Given the description of an element on the screen output the (x, y) to click on. 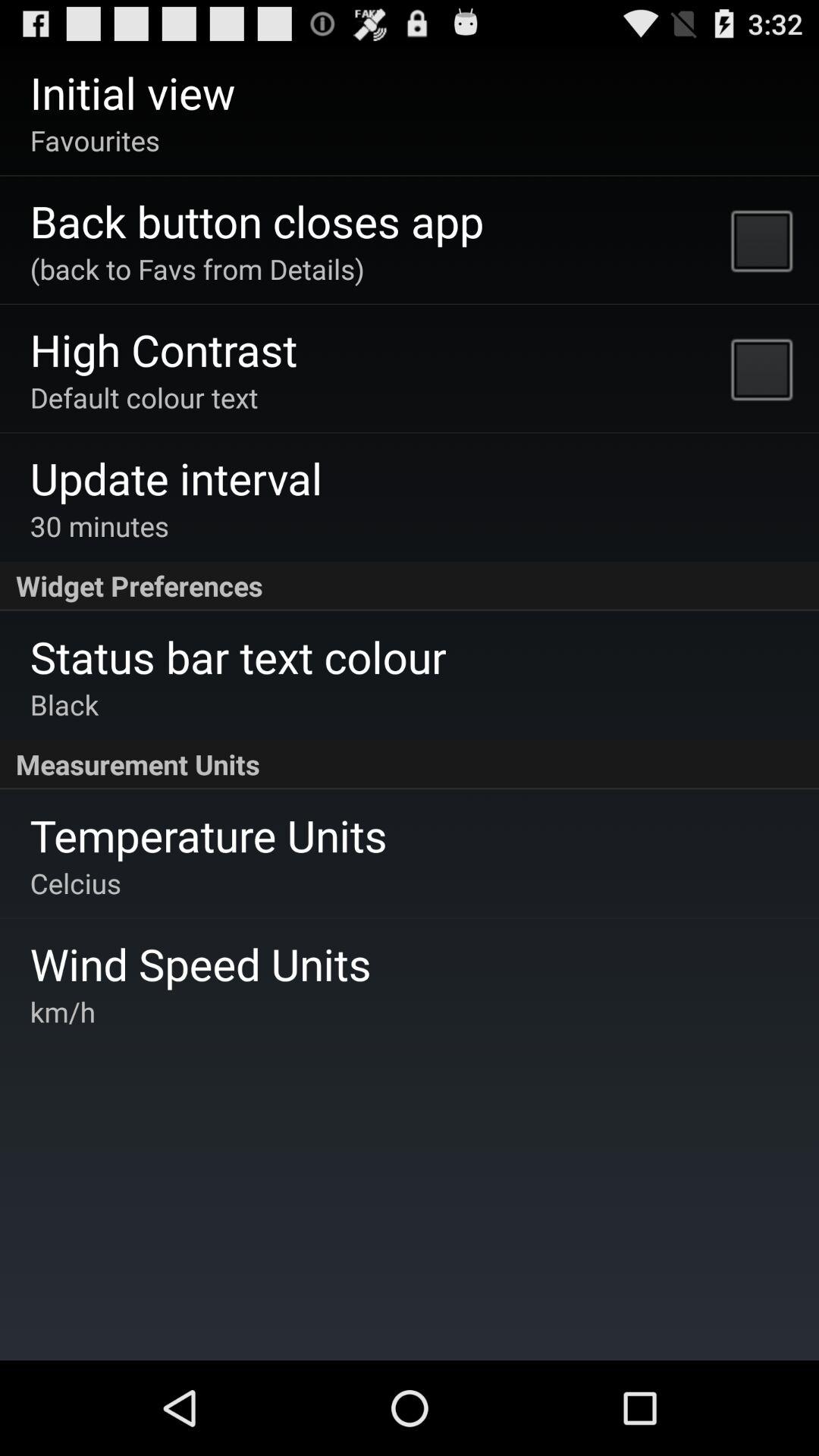
jump to the km/h (62, 1011)
